Given the description of an element on the screen output the (x, y) to click on. 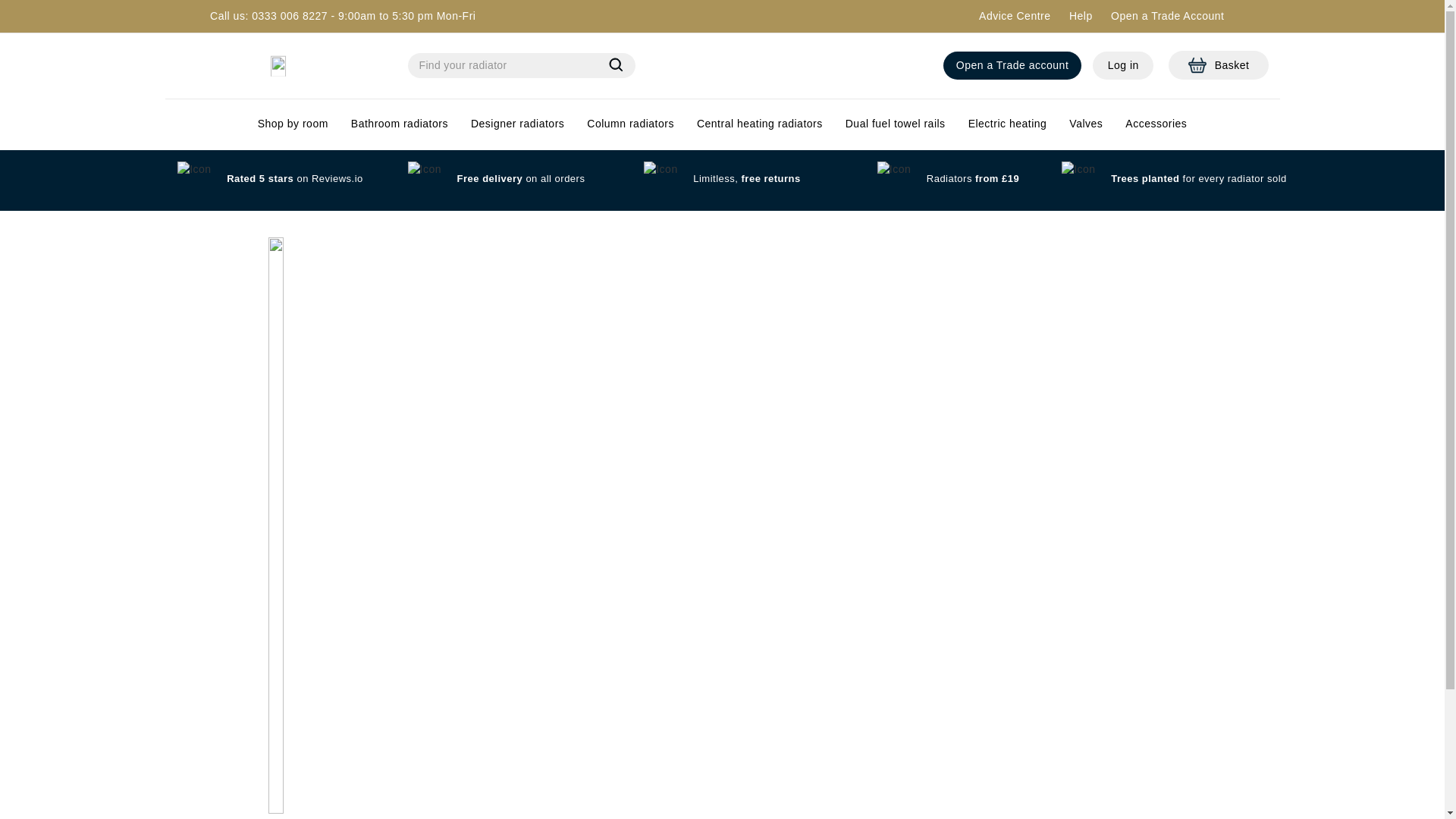
Help (1012, 65)
Dual fuel towel rails (1080, 15)
Advice Centre (895, 123)
Designer radiators (1013, 15)
Open a Trade Account (1123, 65)
Search (517, 123)
Bathroom radiators (1167, 15)
0333 006 8227 (1218, 65)
Column radiators (615, 66)
Electric heating (399, 123)
Shop by room (289, 15)
Valves (630, 123)
